Given the description of an element on the screen output the (x, y) to click on. 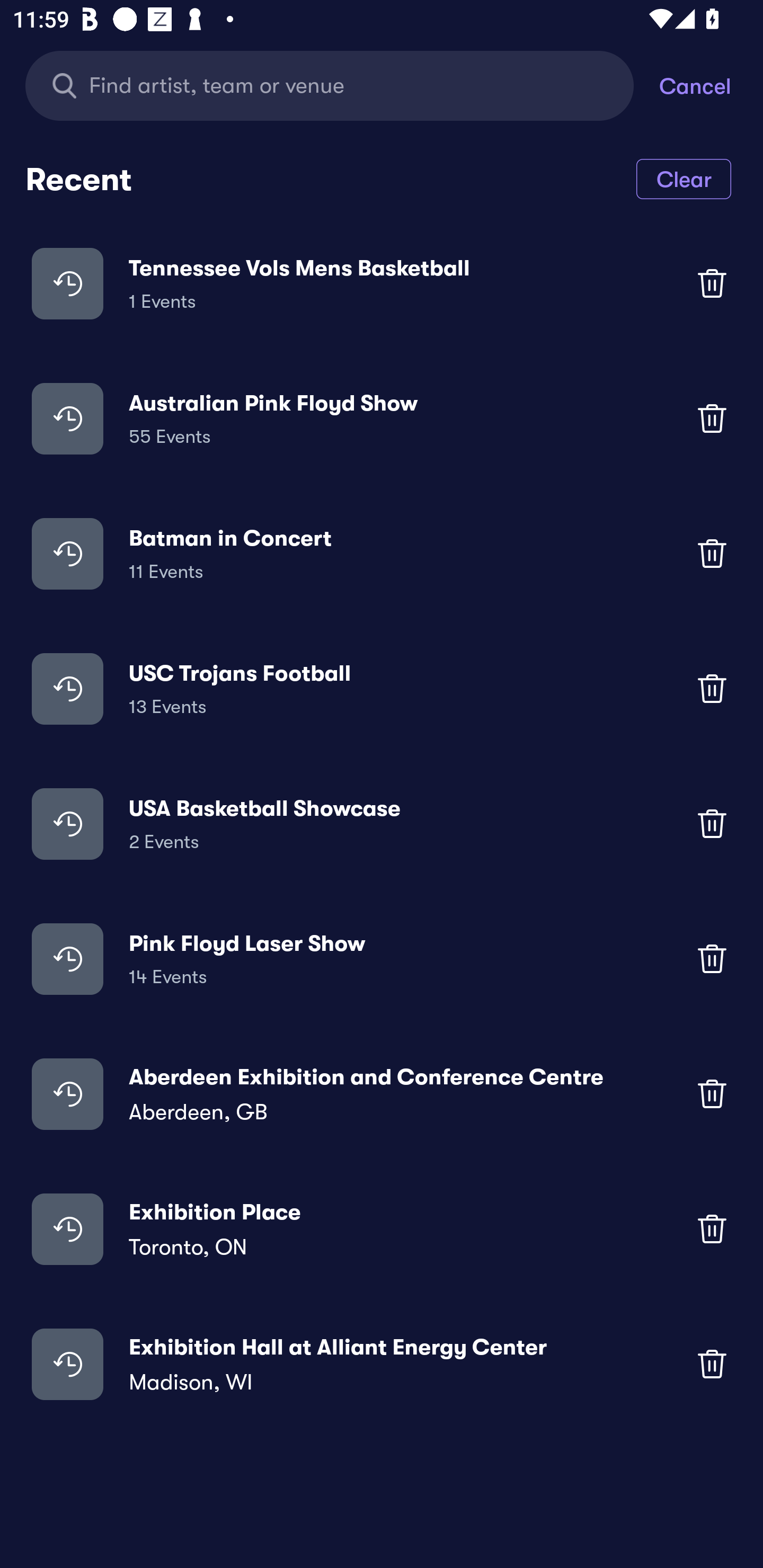
Find artist, team or venue Find (329, 85)
Find artist, team or venue Find (342, 85)
Cancel (711, 85)
Clear (683, 178)
Tennessee Vols Mens Basketball 1 Events (381, 282)
Australian Pink Floyd Show 55 Events (381, 417)
Batman in Concert 11 Events (381, 553)
USC Trojans Football 13 Events (381, 688)
USA Basketball Showcase 2 Events (381, 823)
Pink Floyd Laser Show 14 Events (381, 958)
Exhibition Place Toronto, ON (381, 1228)
